Given the description of an element on the screen output the (x, y) to click on. 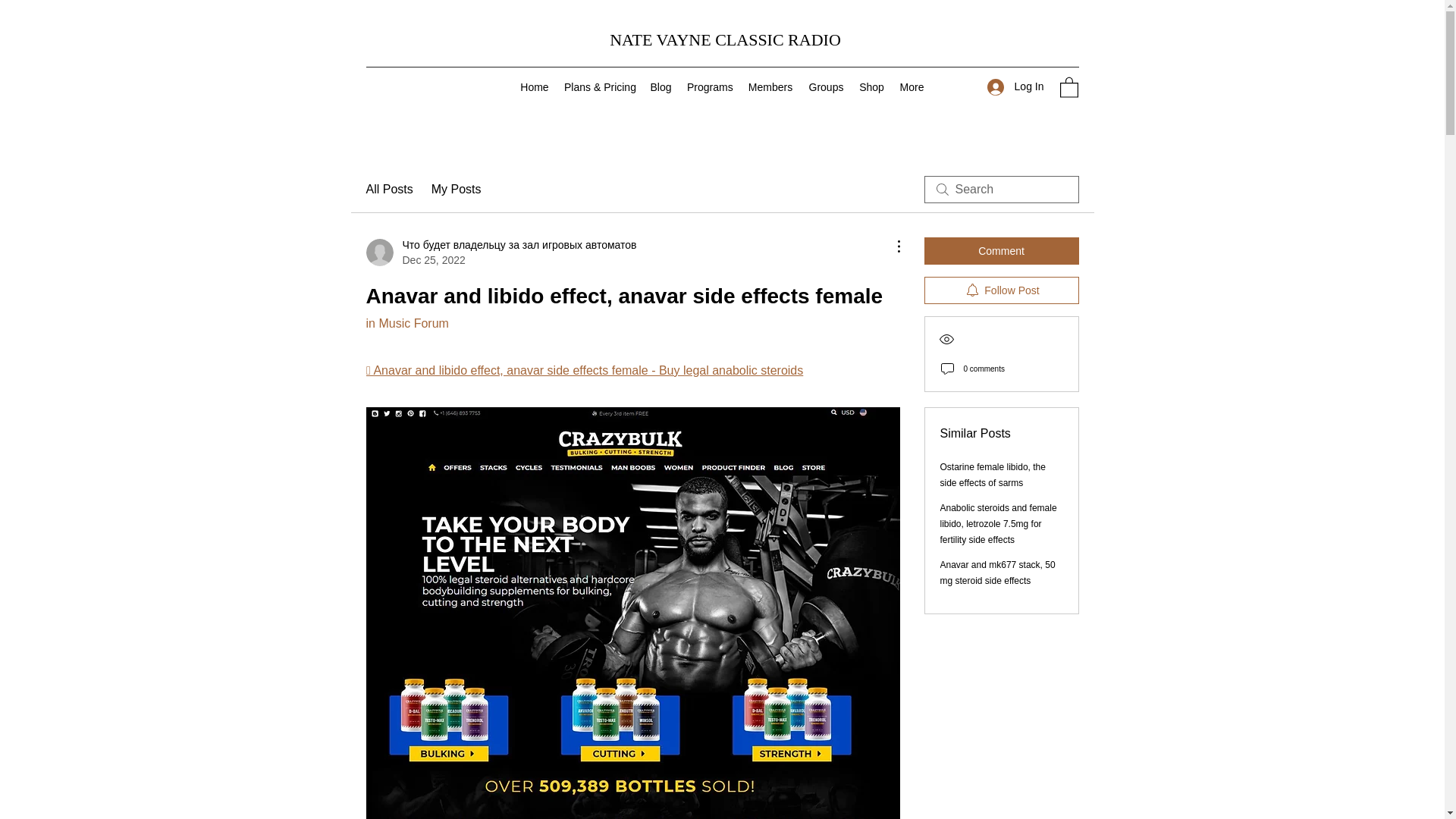
in Music Forum (406, 323)
NATE VAYNE CLASSIC RADIO (725, 39)
Groups (825, 87)
Home (534, 87)
Blog (660, 87)
My Posts (455, 189)
All Posts (388, 189)
Log In (1015, 86)
Shop (871, 87)
Programs (709, 87)
